Given the description of an element on the screen output the (x, y) to click on. 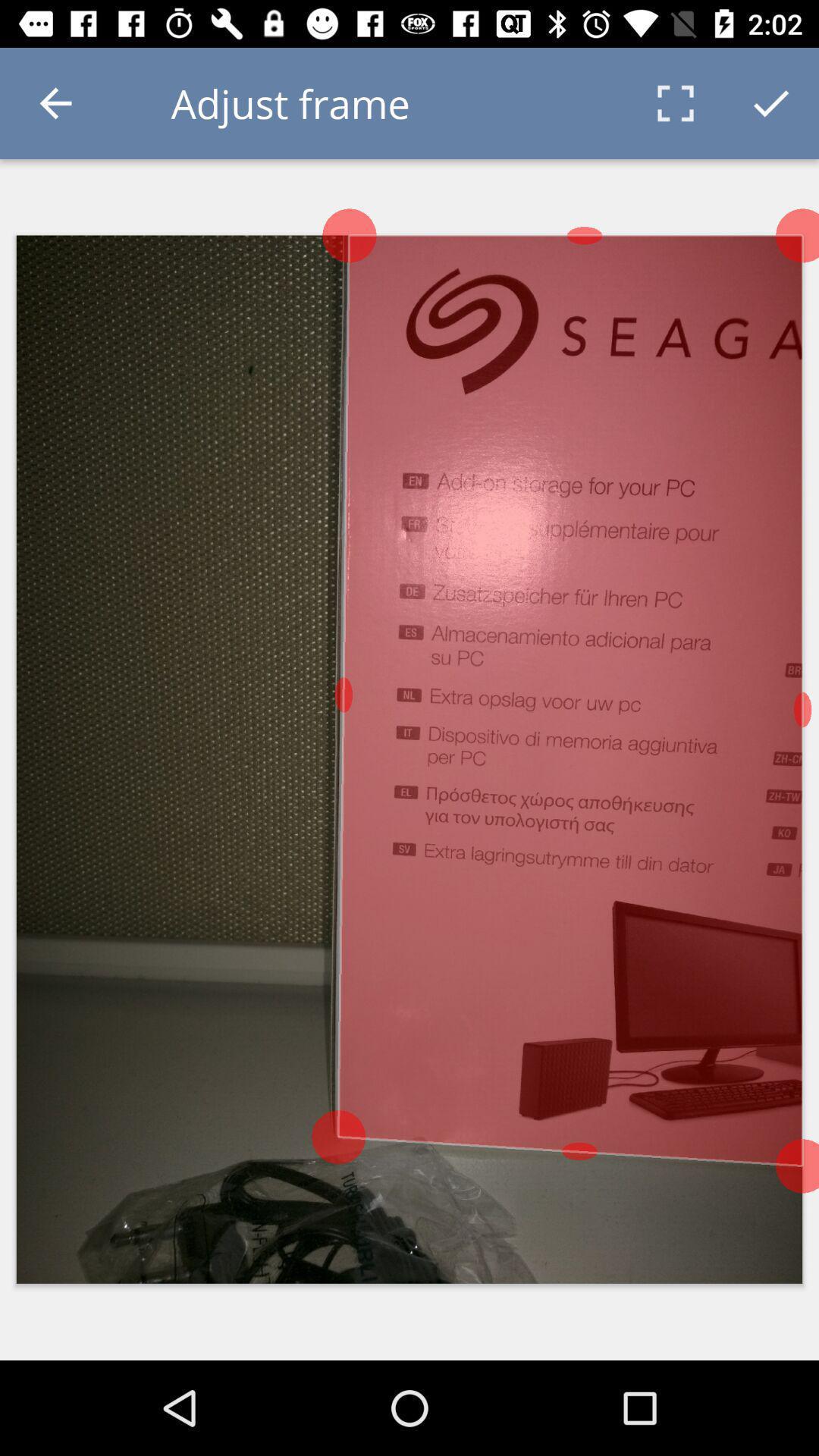
press icon to the right of the adjust frame (675, 103)
